Given the description of an element on the screen output the (x, y) to click on. 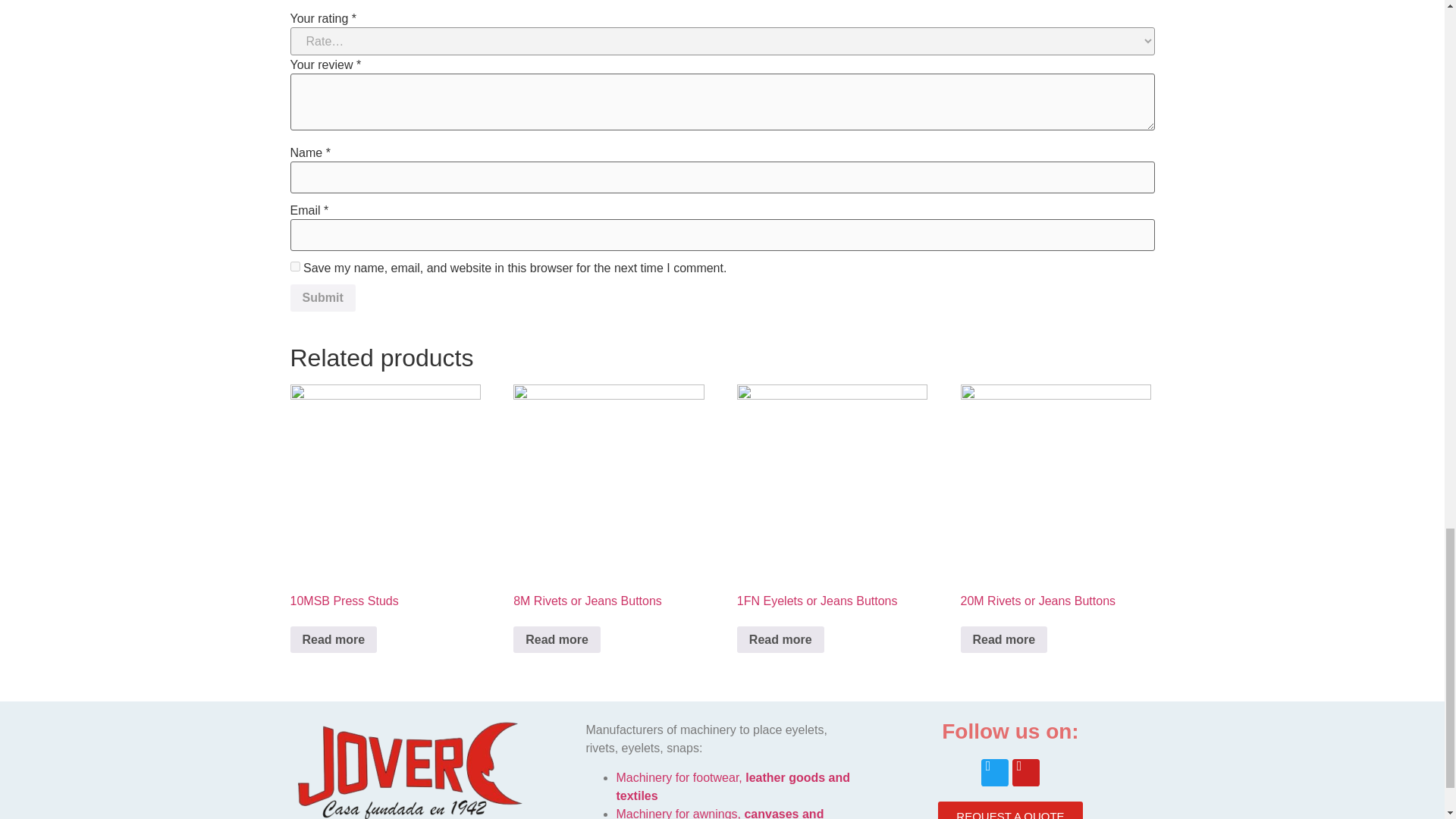
yes (294, 266)
Submit (322, 298)
